Given the description of an element on the screen output the (x, y) to click on. 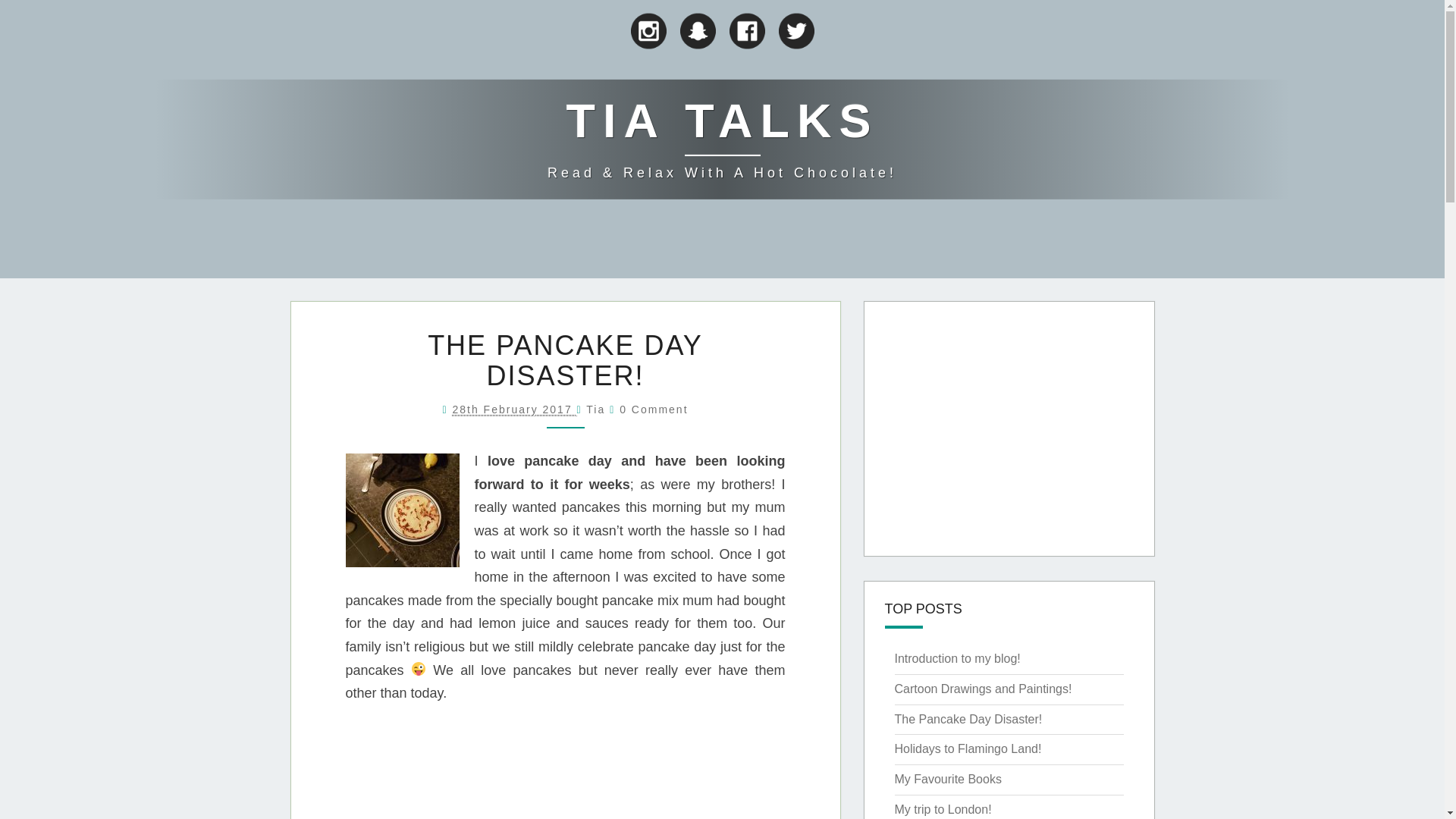
My trip to London! (943, 809)
0 Comment (653, 409)
Tia (595, 409)
The Pancake Day Disaster! (968, 718)
View all posts by Tia (595, 409)
My Favourite Books (948, 779)
Introduction to my blog! (957, 658)
9:05 pm (513, 409)
28th February 2017 (513, 409)
Tia Talks (721, 138)
Cartoon Drawings and Paintings! (983, 688)
Holidays to Flamingo Land! (968, 748)
